Given the description of an element on the screen output the (x, y) to click on. 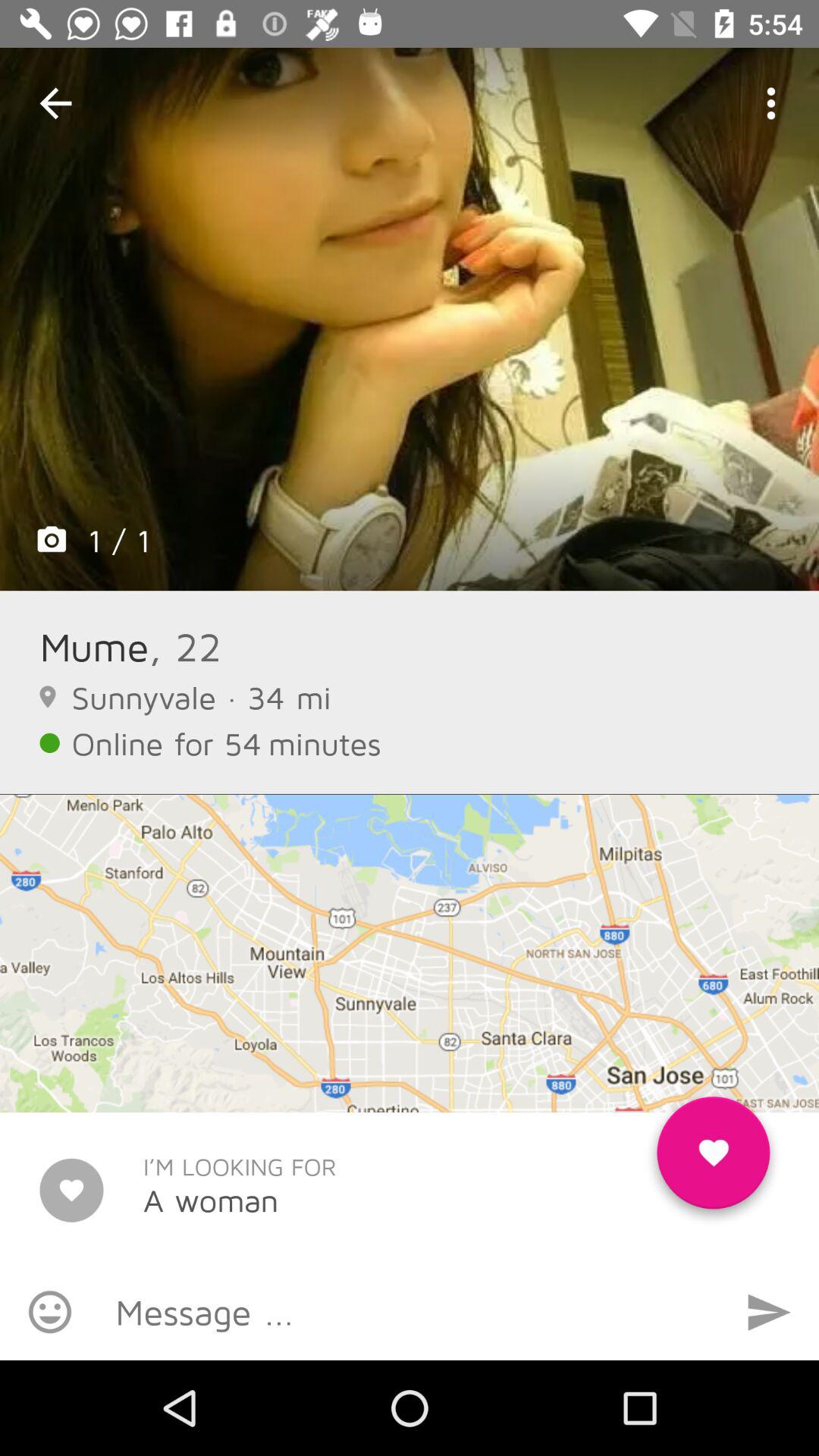
write a message (409, 1311)
